Given the description of an element on the screen output the (x, y) to click on. 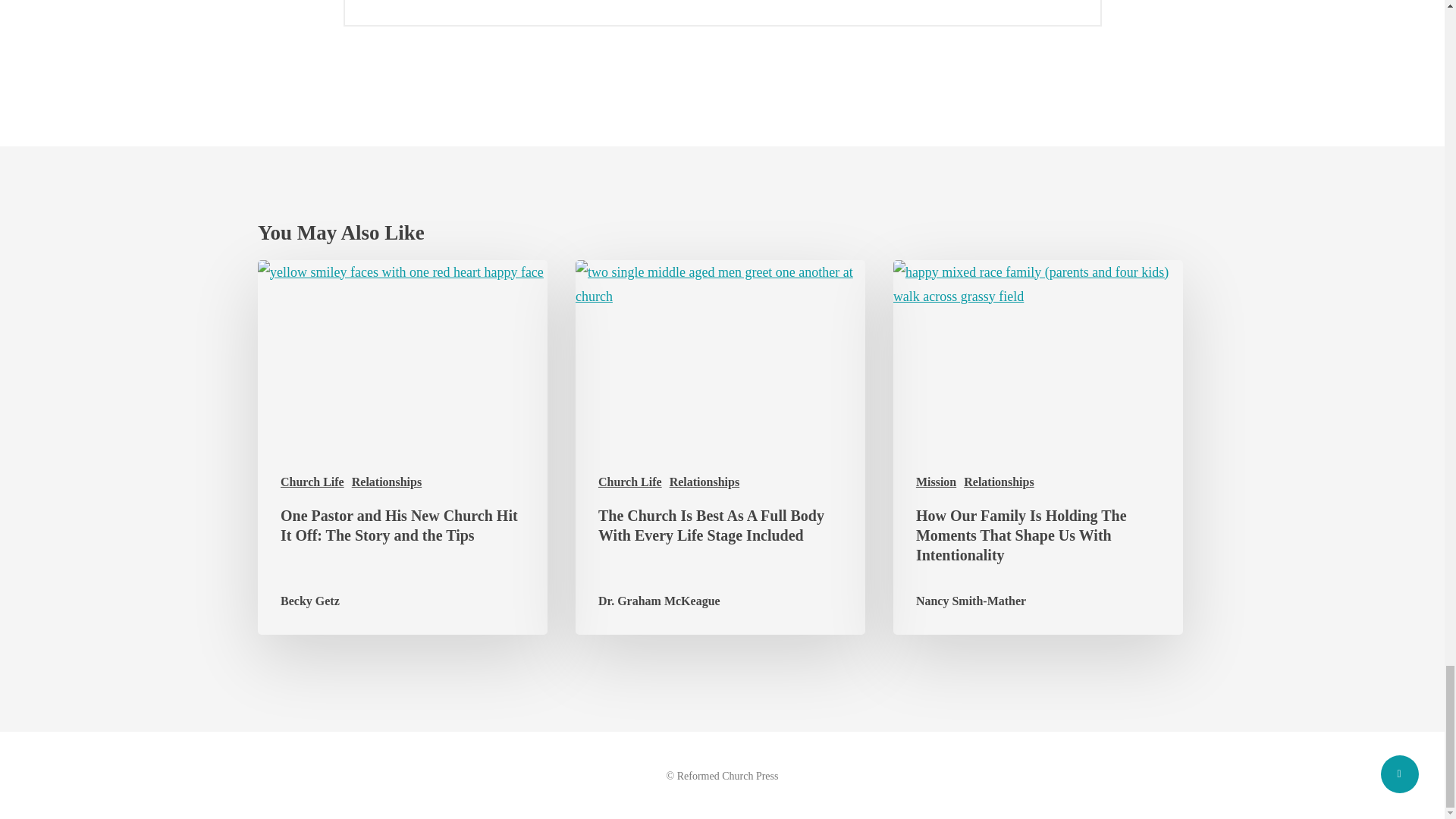
Relationships (704, 482)
Church Life (312, 482)
Relationships (387, 482)
Church Life (630, 482)
Dr. Graham McKeague (659, 600)
Becky Getz (310, 600)
